Given the description of an element on the screen output the (x, y) to click on. 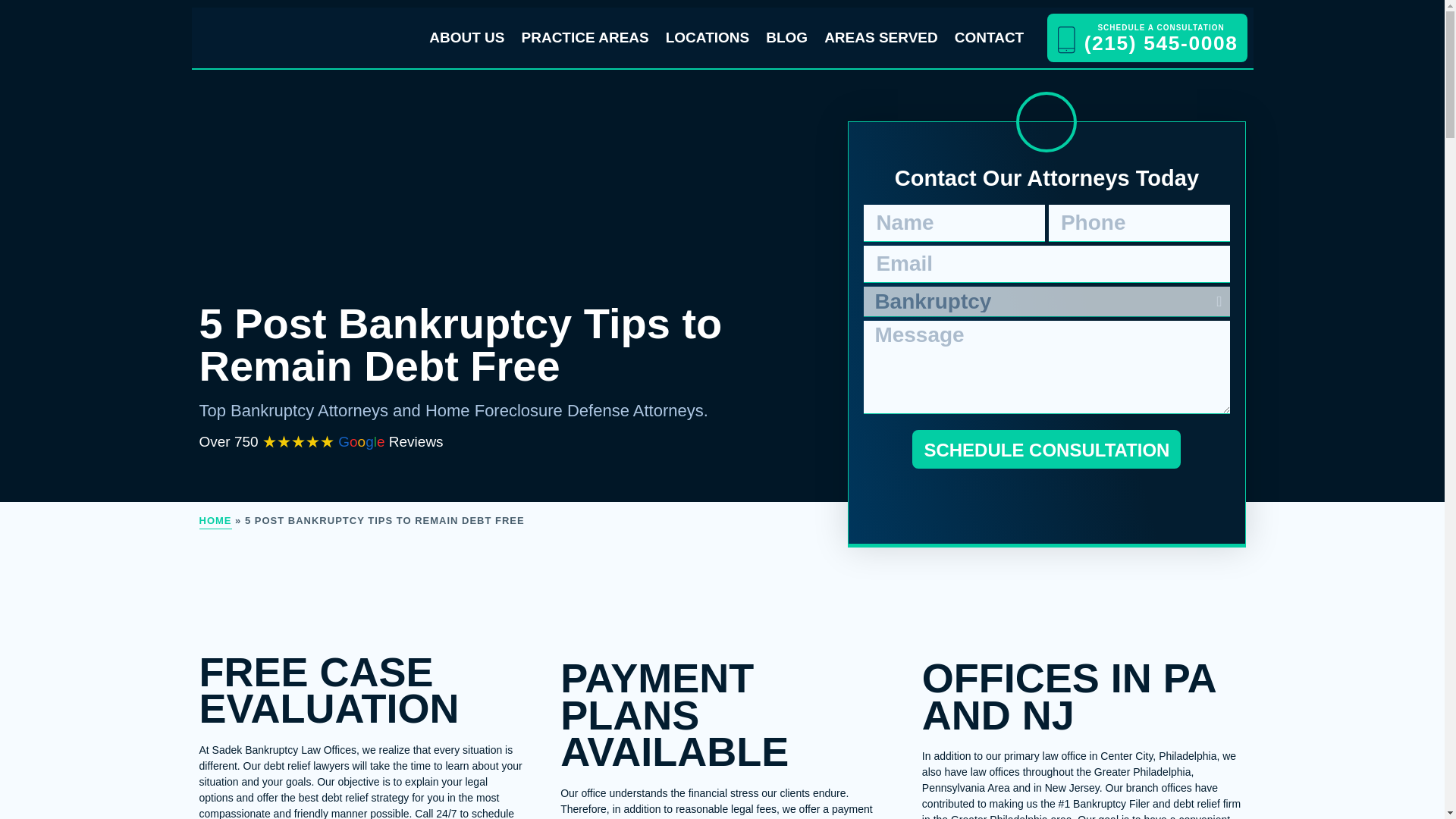
PRACTICE AREAS (585, 37)
ABOUT US (466, 37)
LOCATIONS (708, 37)
